Given the description of an element on the screen output the (x, y) to click on. 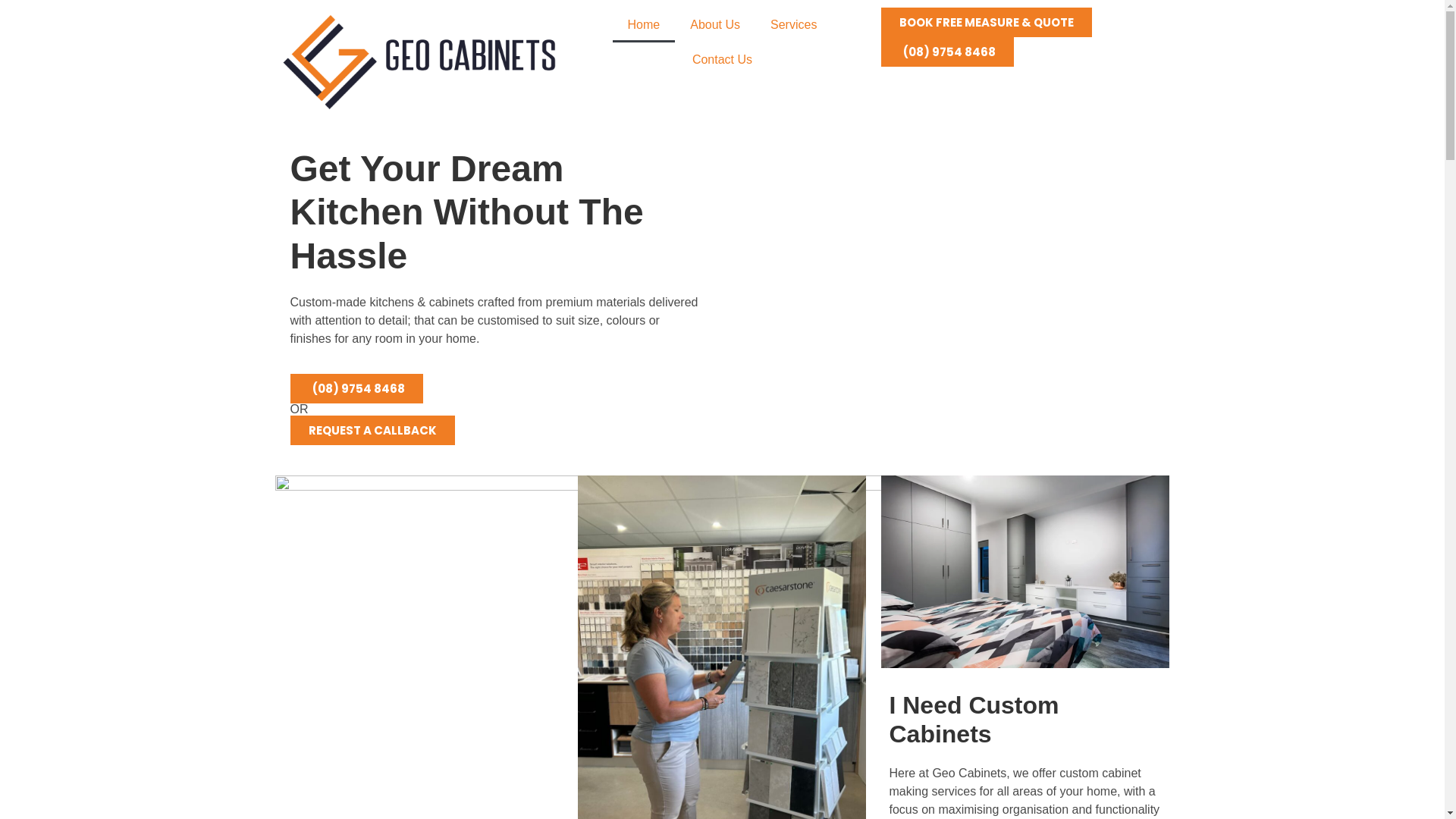
BOOK FREE MEASURE & QUOTE Element type: text (986, 22)
Home Element type: text (643, 24)
Services Element type: text (793, 24)
(08) 9754 8468 Element type: text (947, 51)
REQUEST A CALLBACK Element type: text (371, 430)
Contact Us Element type: text (722, 59)
(08) 9754 8468 Element type: text (355, 388)
About Us Element type: text (714, 24)
